Given the description of an element on the screen output the (x, y) to click on. 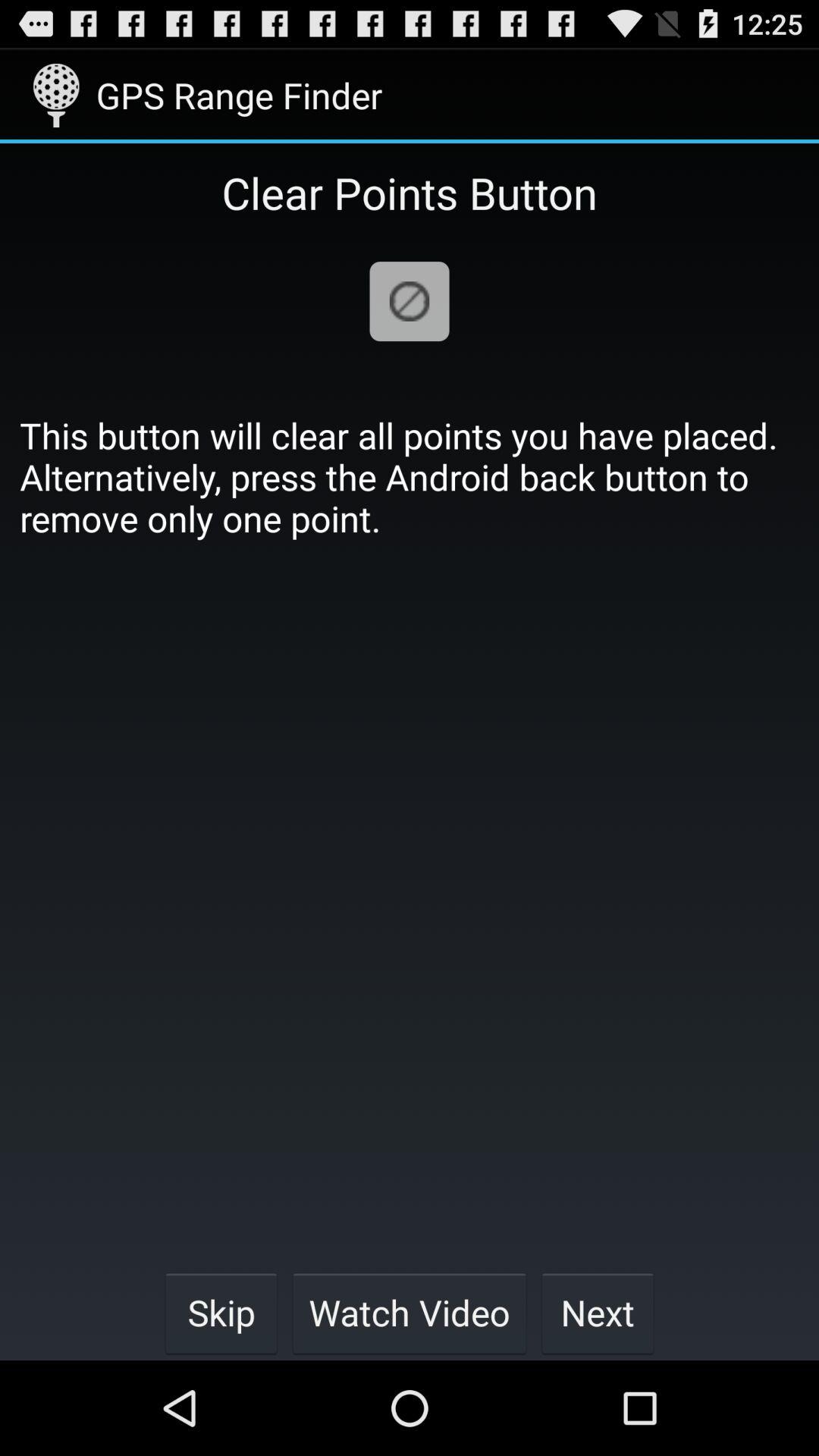
jump until the next (597, 1312)
